Given the description of an element on the screen output the (x, y) to click on. 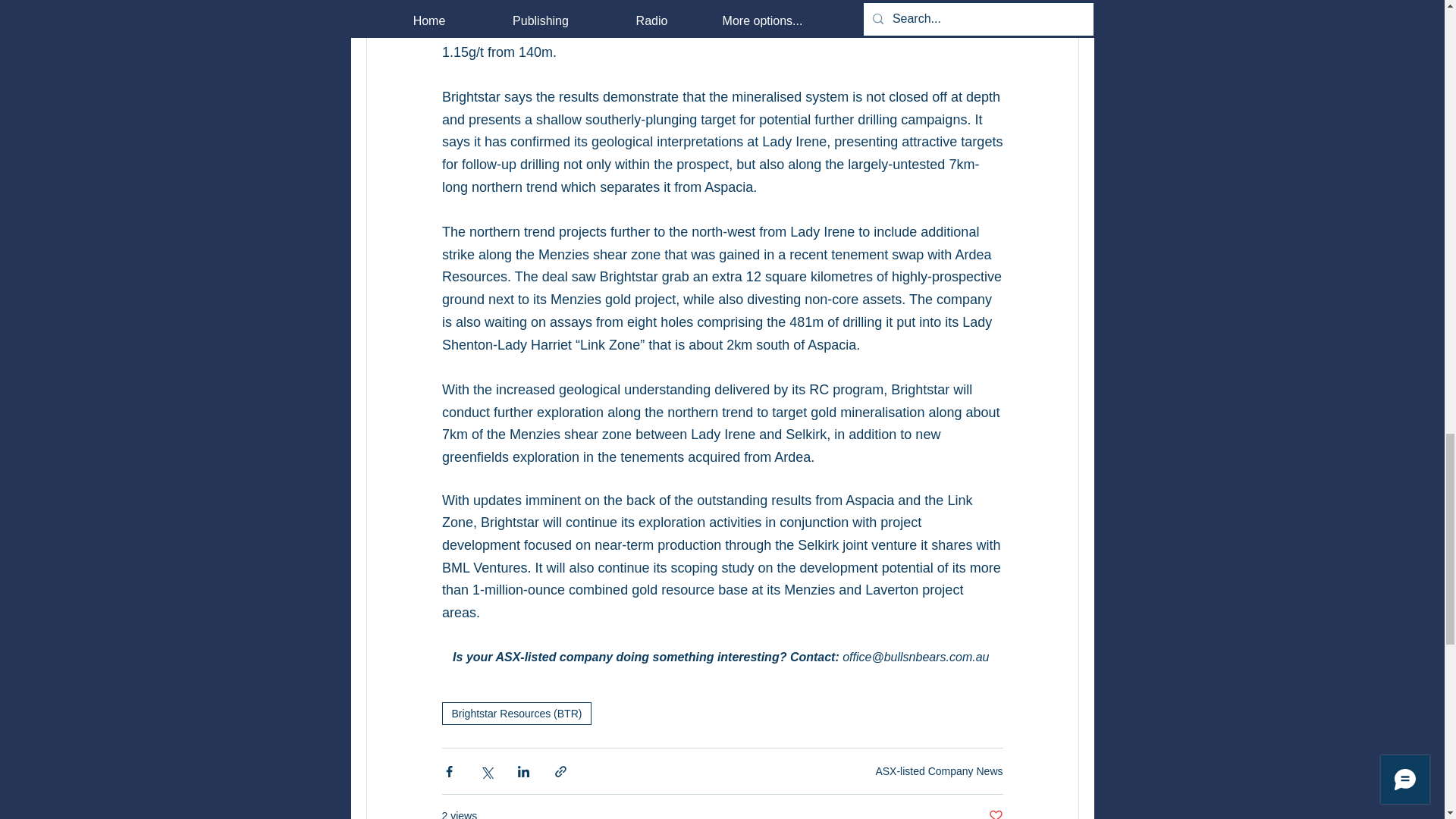
Post not marked as liked (995, 813)
ASX-listed Company News (939, 770)
